Given the description of an element on the screen output the (x, y) to click on. 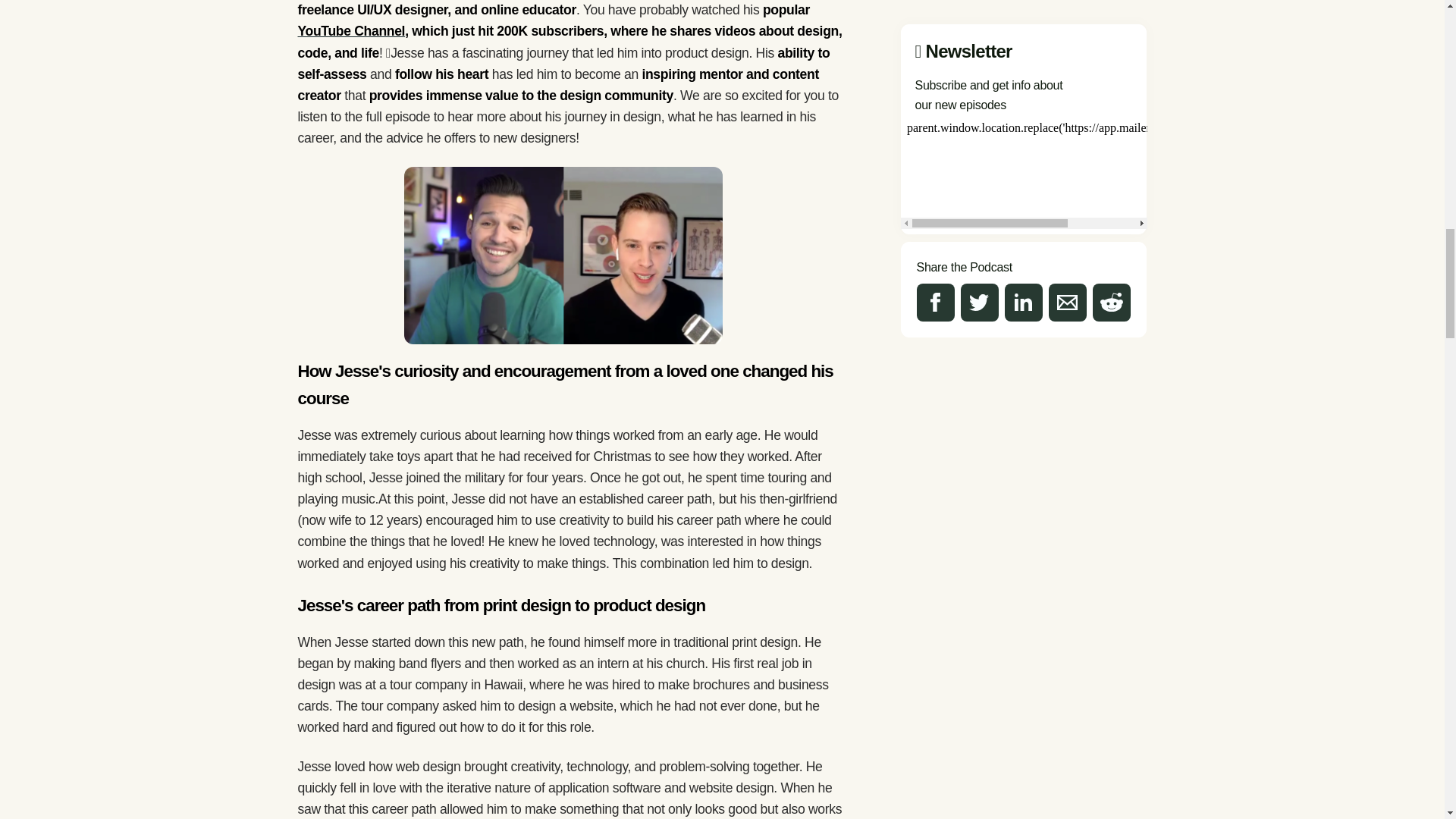
YouTube Channel (350, 30)
